Given the description of an element on the screen output the (x, y) to click on. 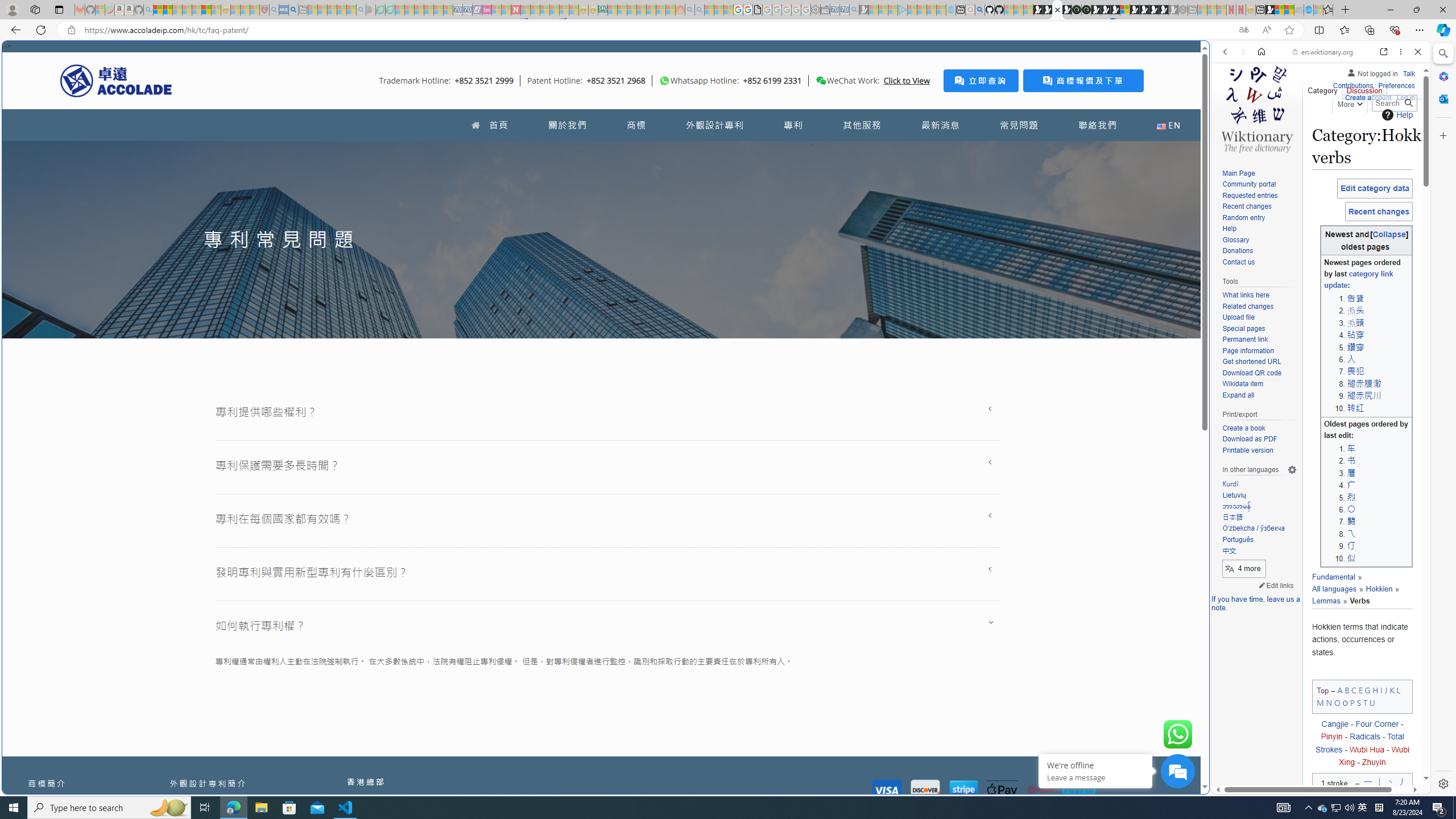
Recent changes (1259, 206)
Cangjie (1334, 723)
